Given the description of an element on the screen output the (x, y) to click on. 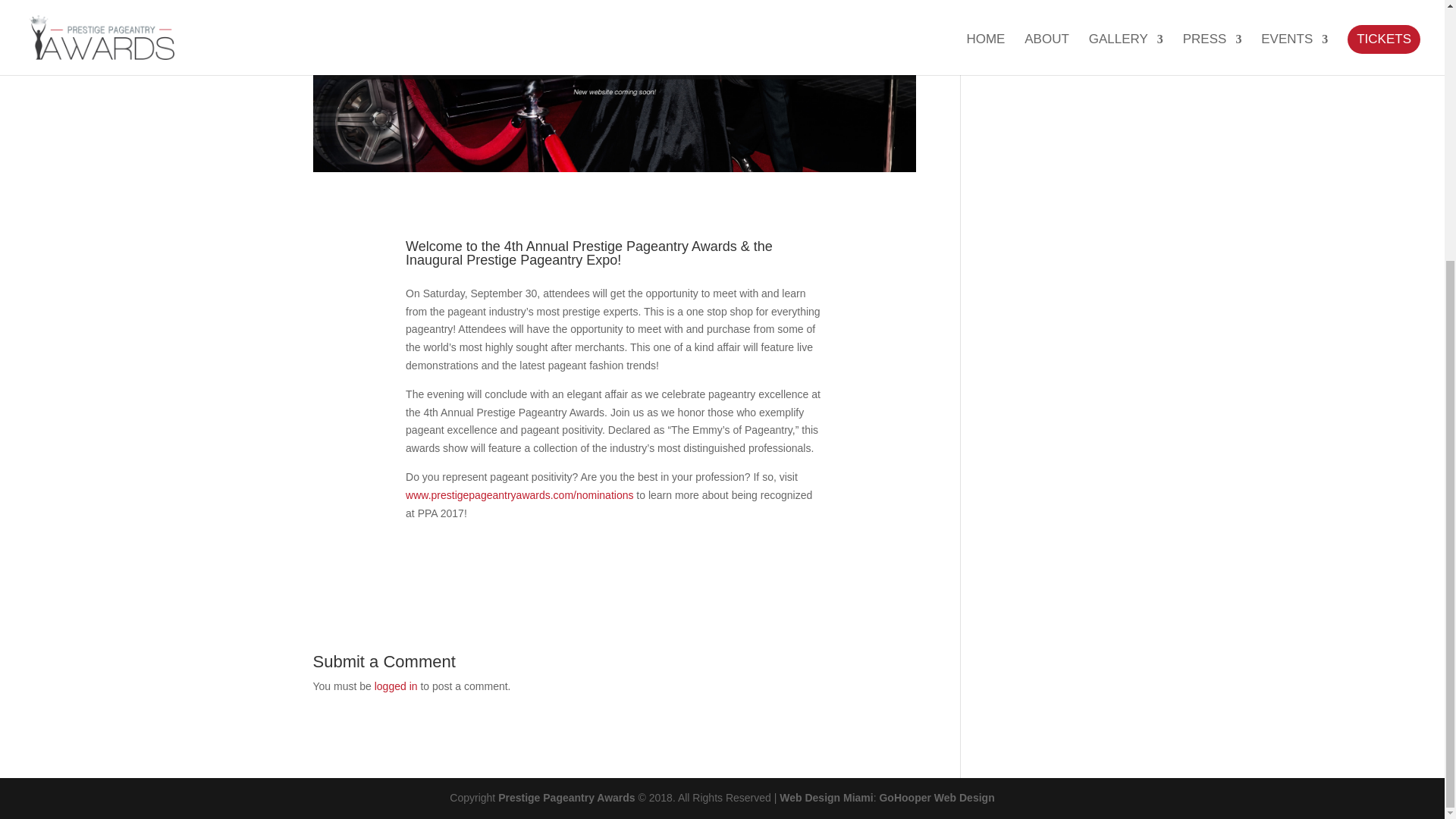
GoHooper Web Design (936, 797)
GoHooper Web Design (936, 797)
Web Design Miami (825, 797)
Prestige Pageantry Awards (565, 797)
GoHooper Web Design (825, 797)
Prestige Pageantry Awards (565, 797)
logged in (395, 686)
